Given the description of an element on the screen output the (x, y) to click on. 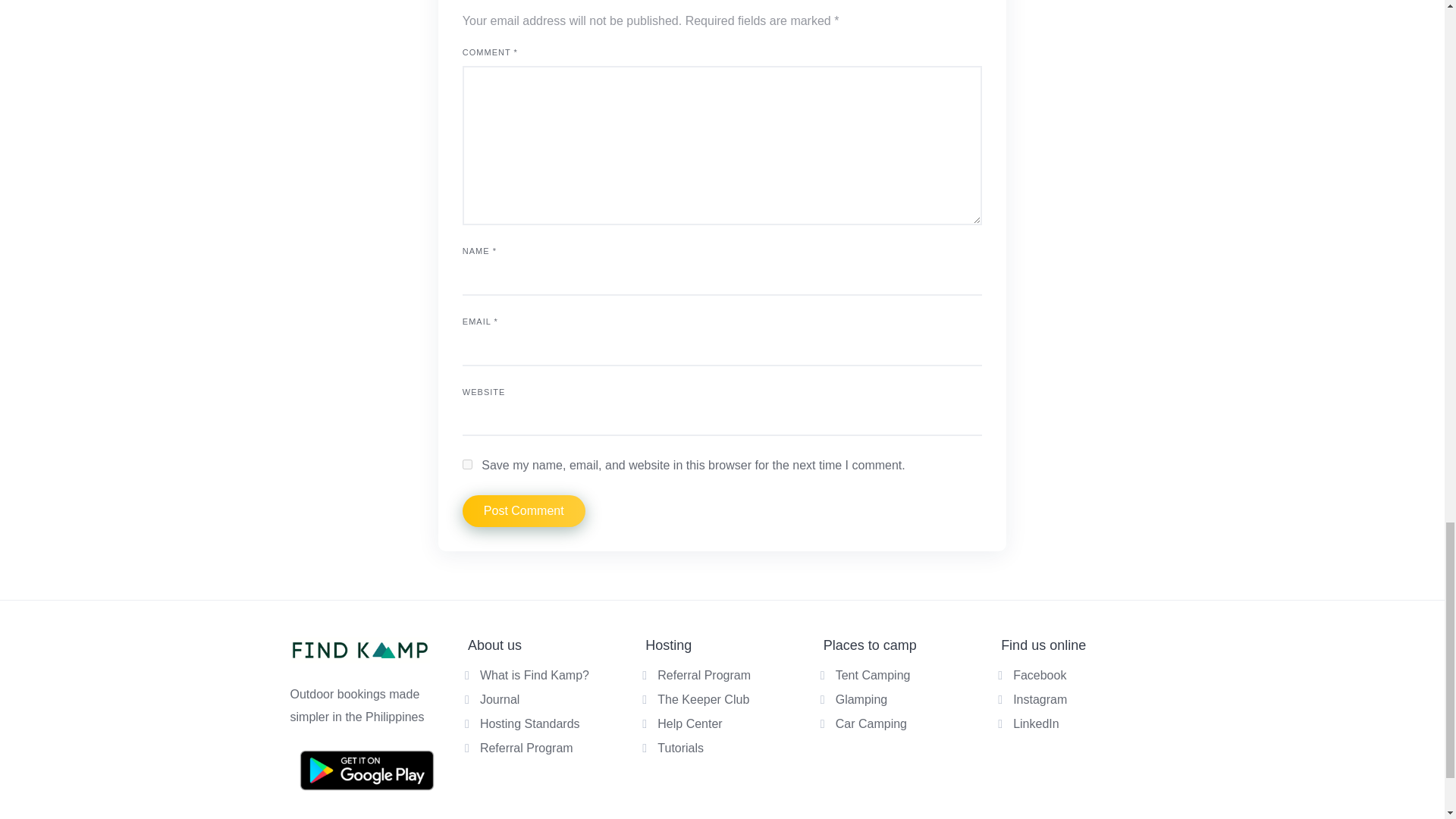
The Keeper Club (703, 698)
Instagram (1040, 698)
Help Center (690, 723)
yes (467, 464)
Hosting Standards (529, 723)
Car Camping (871, 723)
Tent Camping (873, 675)
Post Comment (524, 511)
Facebook (1039, 675)
Glamping (860, 698)
Journal (499, 698)
What is Find Kamp? (534, 675)
Referral Program (704, 675)
Tutorials (680, 748)
Referral Program (526, 748)
